Given the description of an element on the screen output the (x, y) to click on. 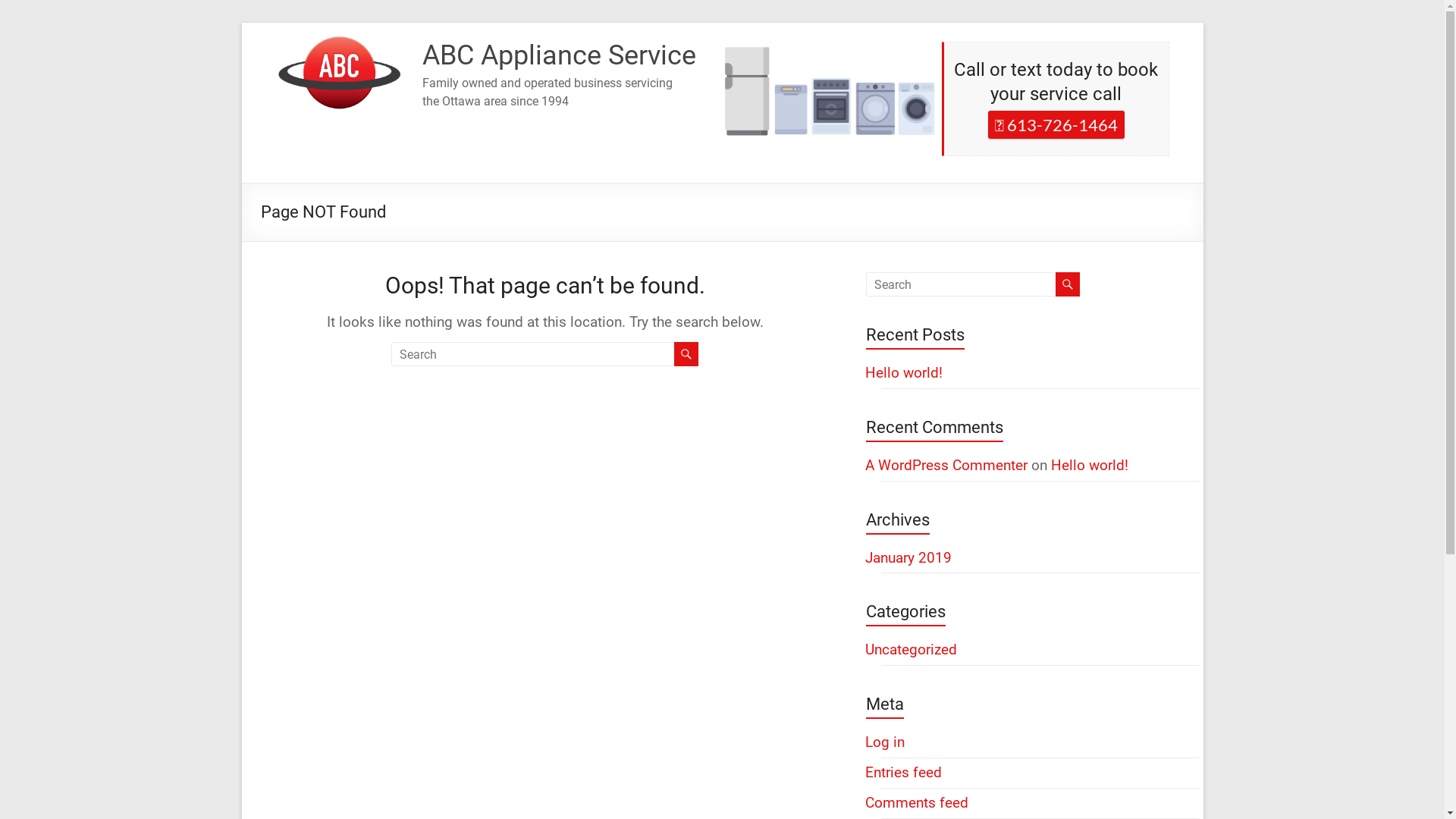
Uncategorized Element type: text (910, 649)
Skip to content Element type: text (241, 21)
Comments feed Element type: text (915, 802)
ABC Appliance Service Element type: text (559, 55)
Hello world! Element type: text (1089, 464)
January 2019 Element type: text (907, 557)
Entries feed Element type: text (902, 772)
A WordPress Commenter Element type: text (945, 464)
Hello world! Element type: text (902, 372)
Log in Element type: text (883, 741)
